Given the description of an element on the screen output the (x, y) to click on. 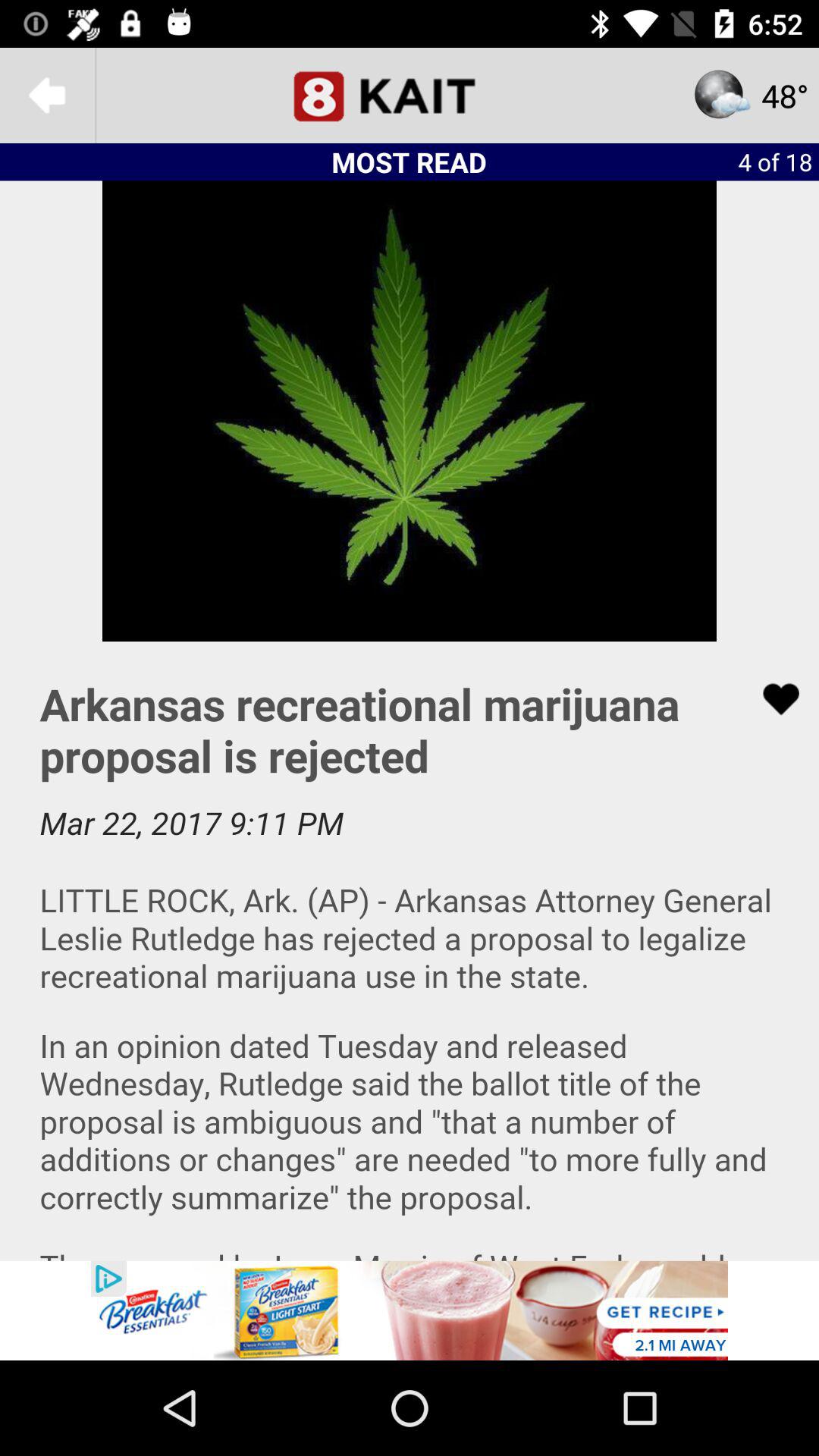
go to the home (409, 95)
